Given the description of an element on the screen output the (x, y) to click on. 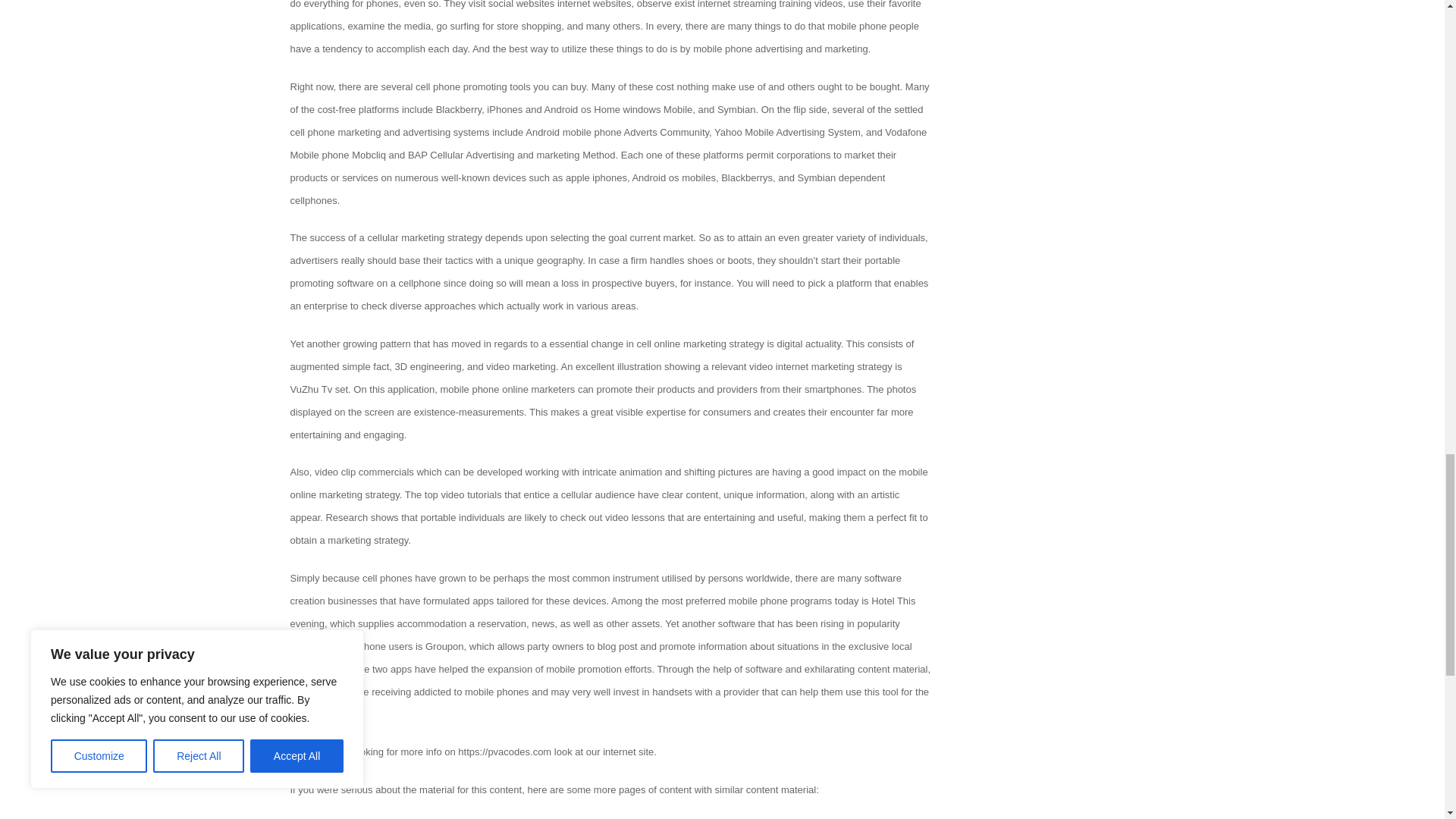
material (436, 789)
marketers (553, 389)
